Given the description of an element on the screen output the (x, y) to click on. 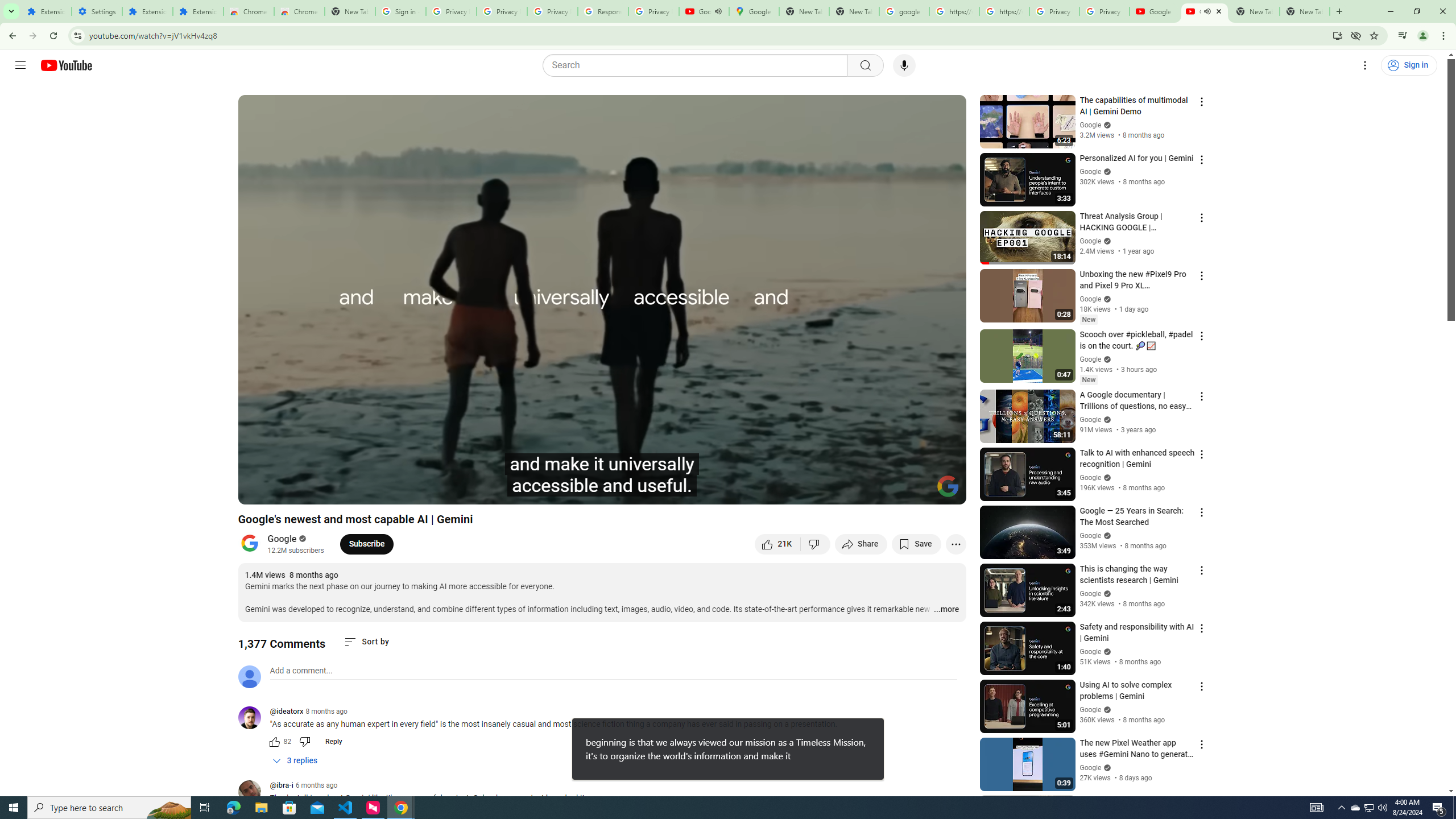
Close (1219, 11)
Search (697, 65)
Dislike this comment (304, 741)
Bookmark this tab (1373, 35)
Miniplayer (i) (890, 490)
Verified (1106, 767)
Restore (1416, 11)
Reload (52, 35)
Guide (20, 65)
